Given the description of an element on the screen output the (x, y) to click on. 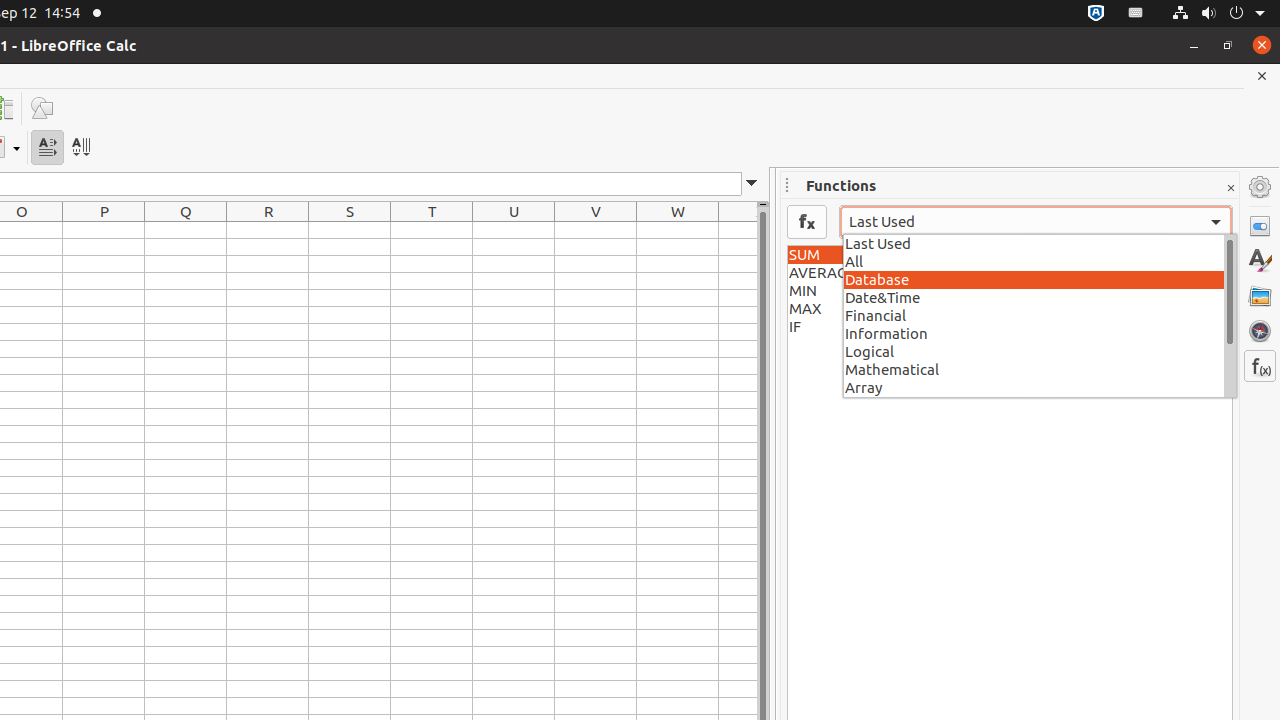
System Element type: menu (1218, 13)
P1 Element type: table-cell (104, 230)
Mathematical Element type: list-item (1040, 369)
Last Used Element type: list-item (1040, 242)
Styles Element type: radio-button (1260, 261)
